Given the description of an element on the screen output the (x, y) to click on. 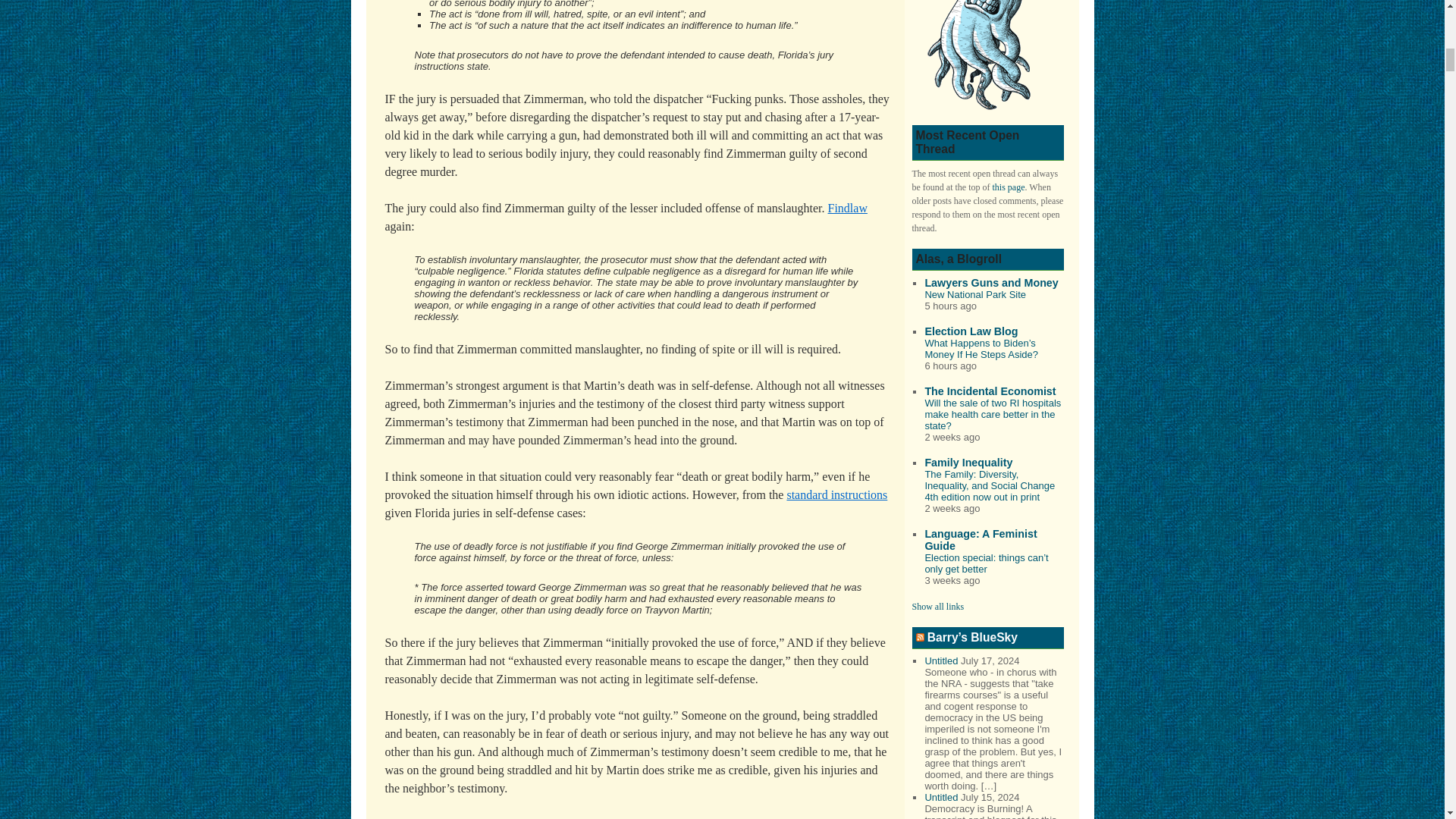
Findlaw (847, 207)
standard instructions (836, 494)
